Given the description of an element on the screen output the (x, y) to click on. 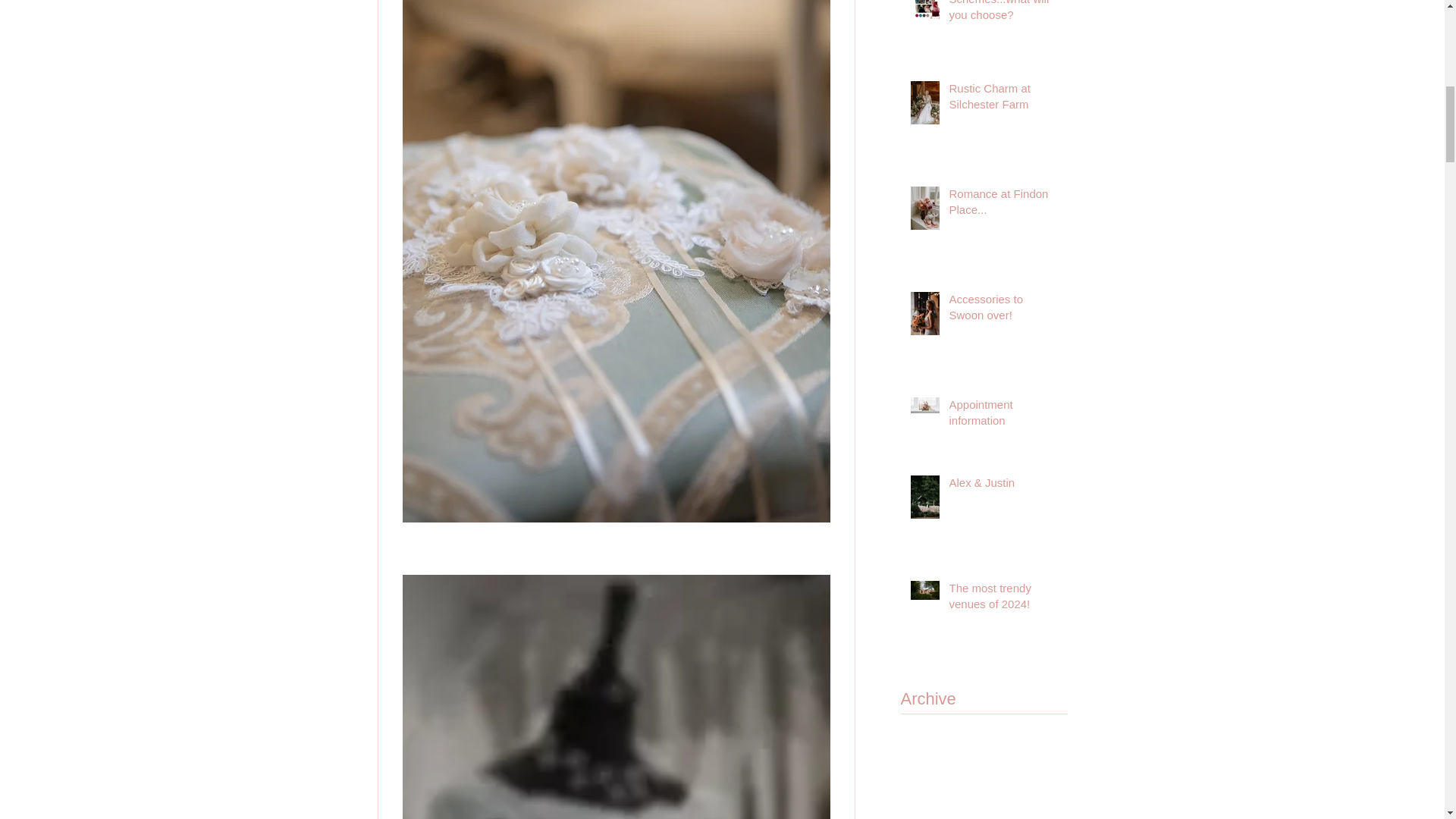
Romance at Findon Place... (1003, 204)
Rustic Charm at Silchester Farm (1003, 98)
The most trendy venues of 2024! (1003, 598)
Accessories to Swoon over! (1003, 310)
Appointment information (1003, 415)
Colour Schemes...what will you choose? (1003, 14)
